Given the description of an element on the screen output the (x, y) to click on. 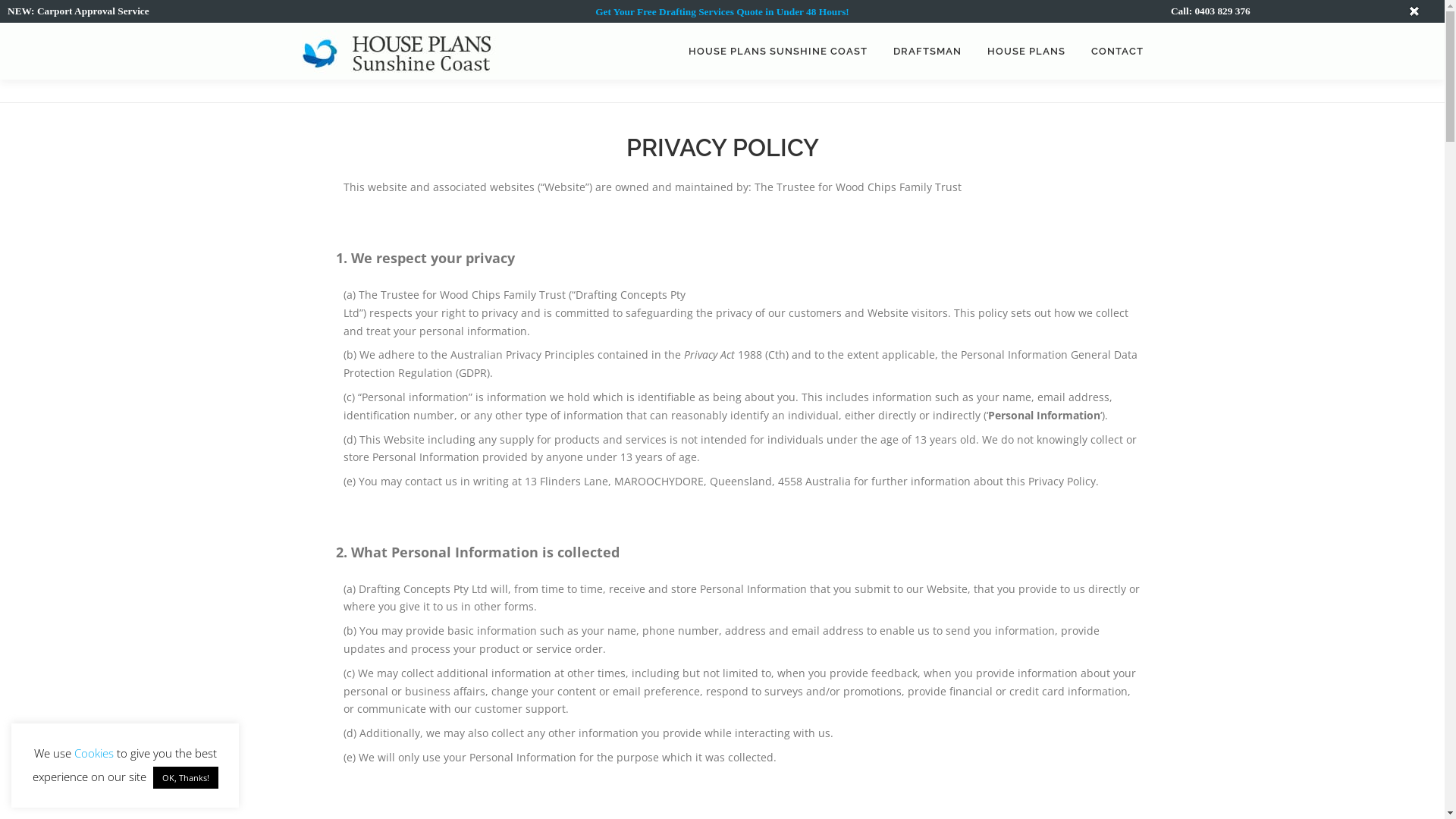
CONTACT Element type: text (1110, 50)
HOUSE PLANS SUNSHINE COAST Element type: text (776, 50)
HOUSE PLANS Element type: text (1025, 50)
NEW: Carport Approval Service Element type: text (78, 10)
OK, Thanks! Element type: text (185, 777)
Get Your Free Drafting Services Quote in Under 48 Hours! Element type: text (722, 11)
Cookies Element type: text (93, 751)
DRAFTSMAN Element type: text (926, 50)
Call: 0403 829 376 Element type: text (1210, 10)
